Given the description of an element on the screen output the (x, y) to click on. 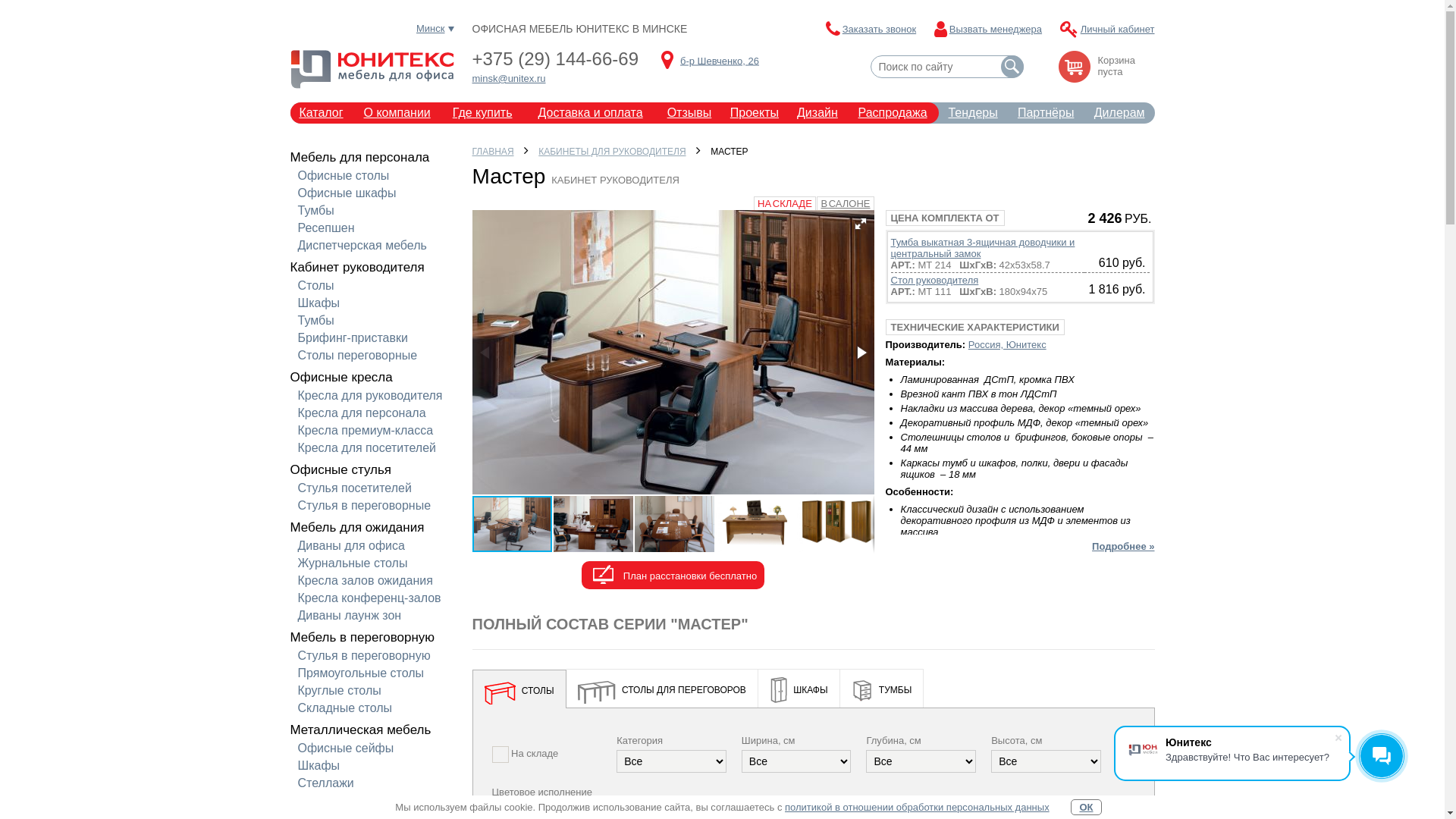
+375 (29) 144-66-69 Element type: text (554, 58)
minsk@unitex.ru Element type: text (508, 78)
